Given the description of an element on the screen output the (x, y) to click on. 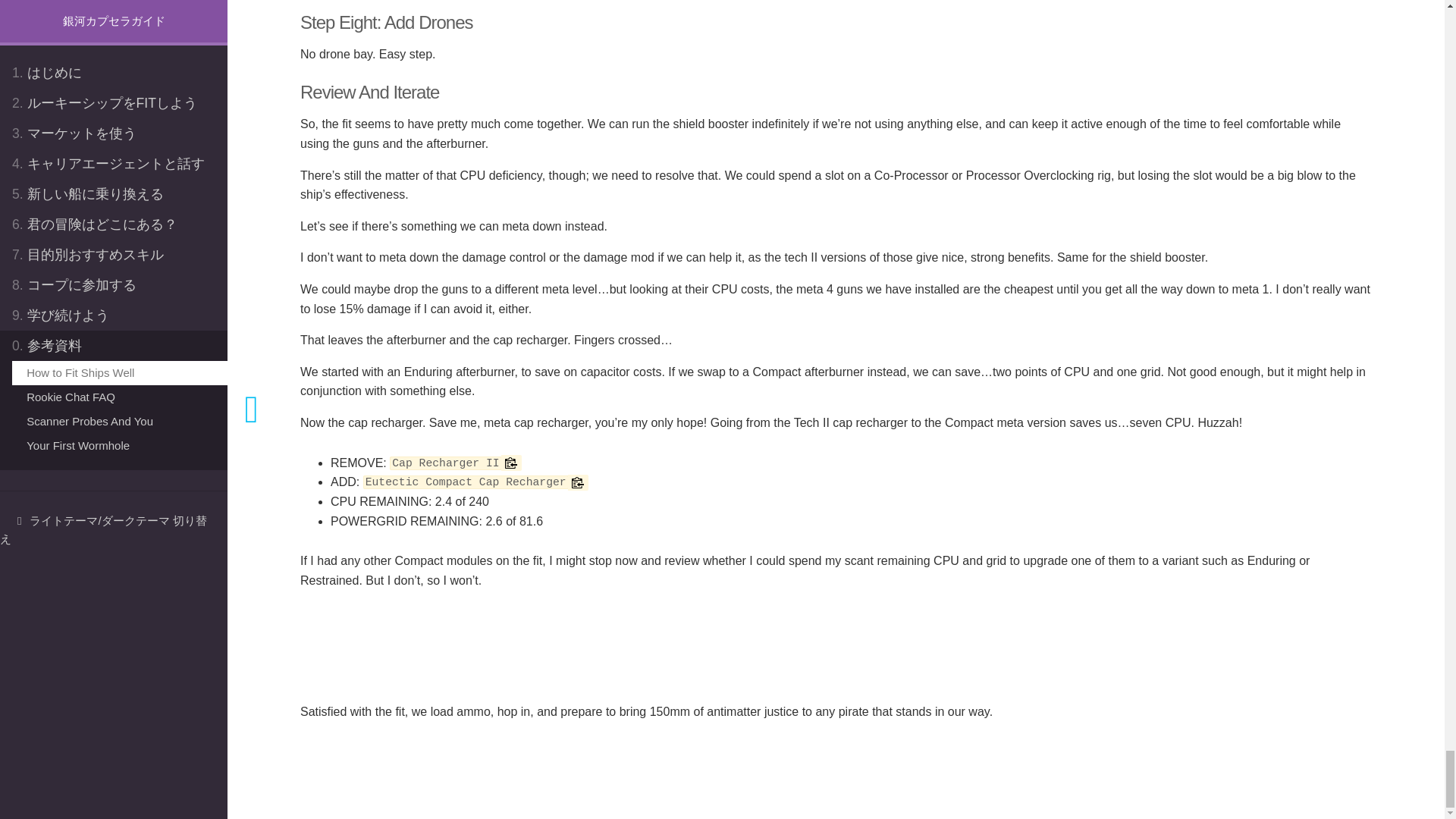
Copy to clipboard (510, 462)
Copy to clipboard (577, 482)
